Given the description of an element on the screen output the (x, y) to click on. 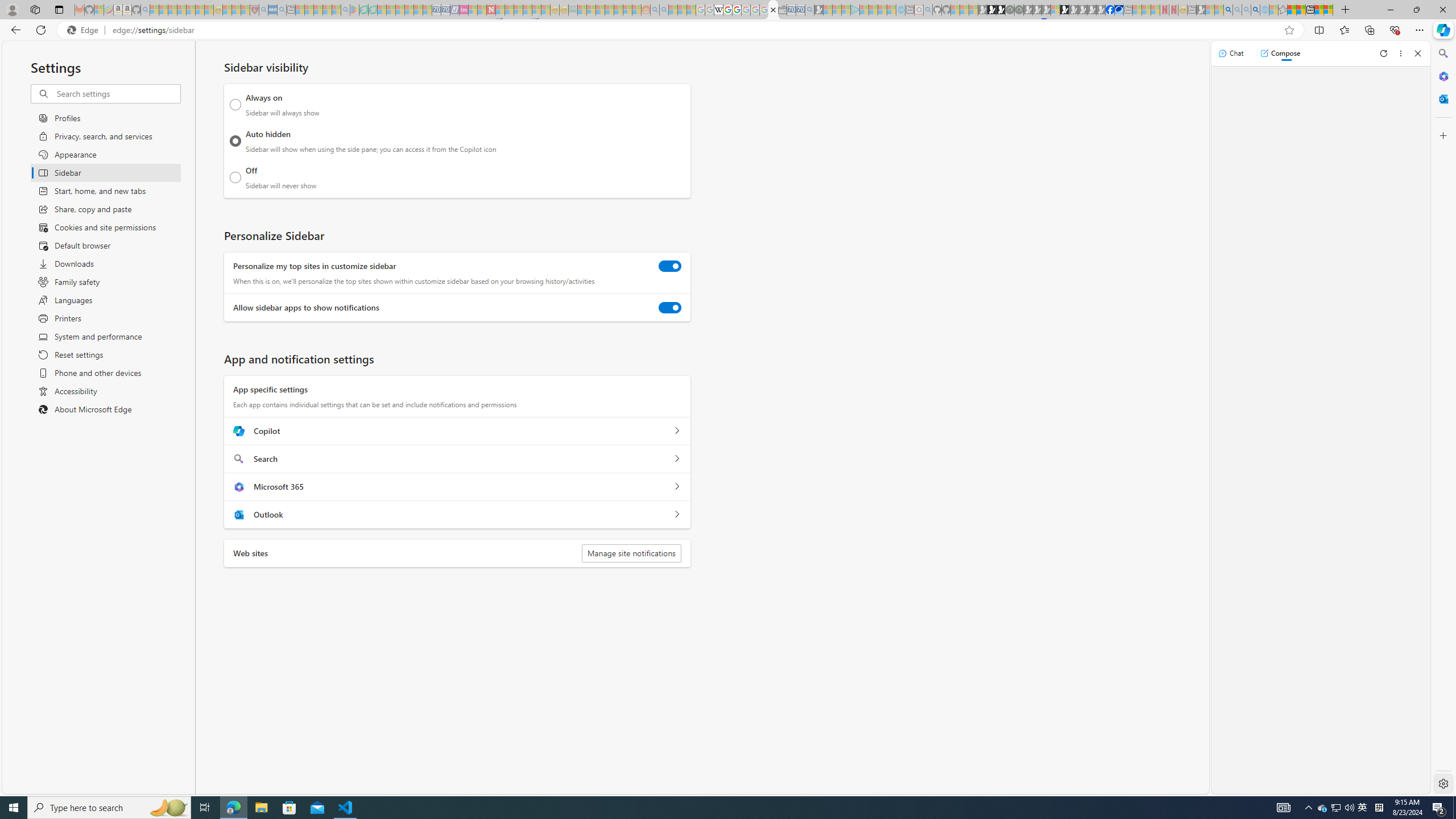
Microsoft Start Gaming - Sleeping (818, 9)
Sign in to your account - Sleeping (1054, 9)
Search settings (117, 93)
Bluey: Let's Play! - Apps on Google Play - Sleeping (354, 9)
